Given the description of an element on the screen output the (x, y) to click on. 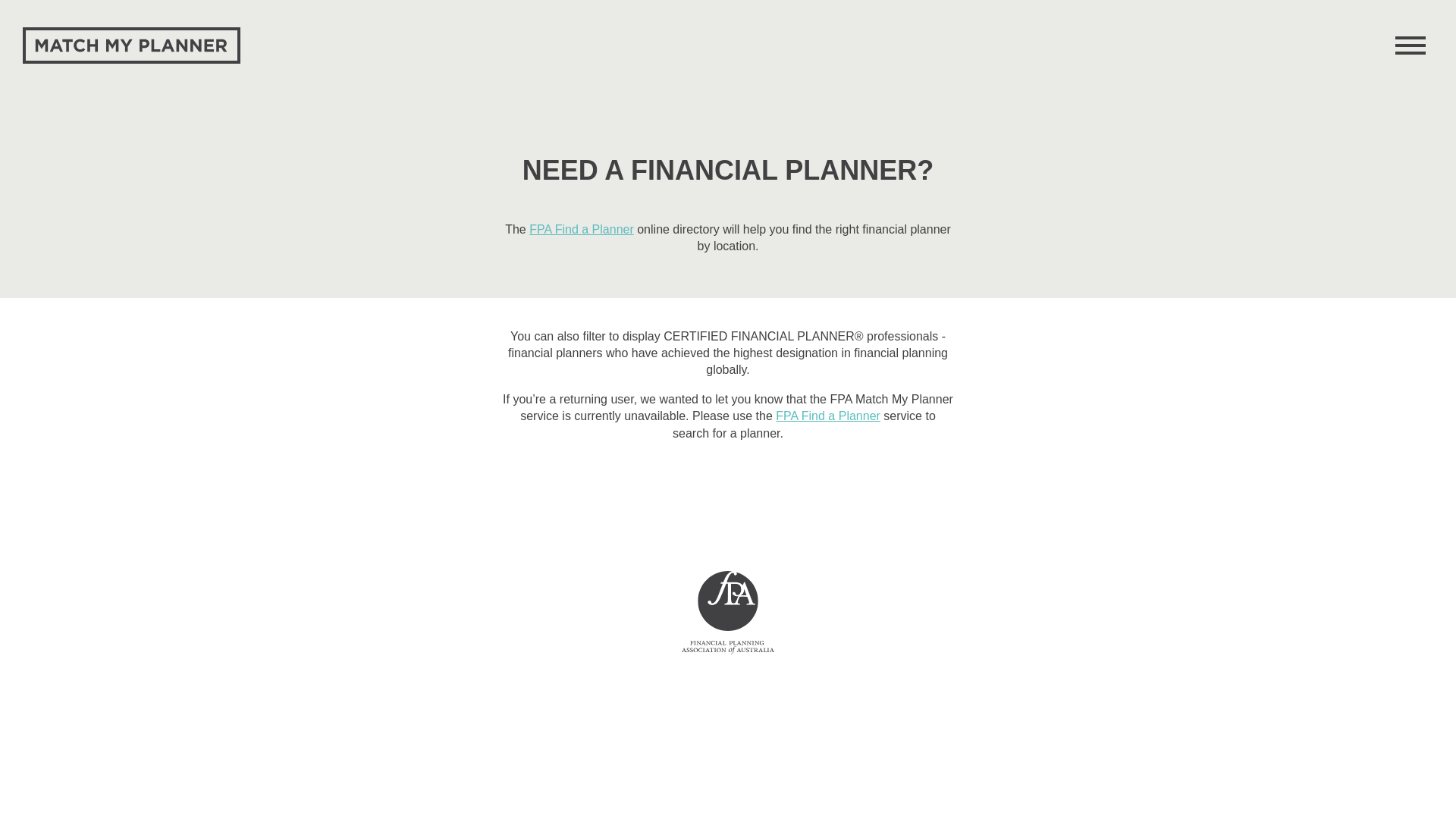
FPA Find a Planner Element type: text (581, 228)
FPA Find a Planner Element type: text (827, 415)
Logo Element type: text (131, 46)
